Given the description of an element on the screen output the (x, y) to click on. 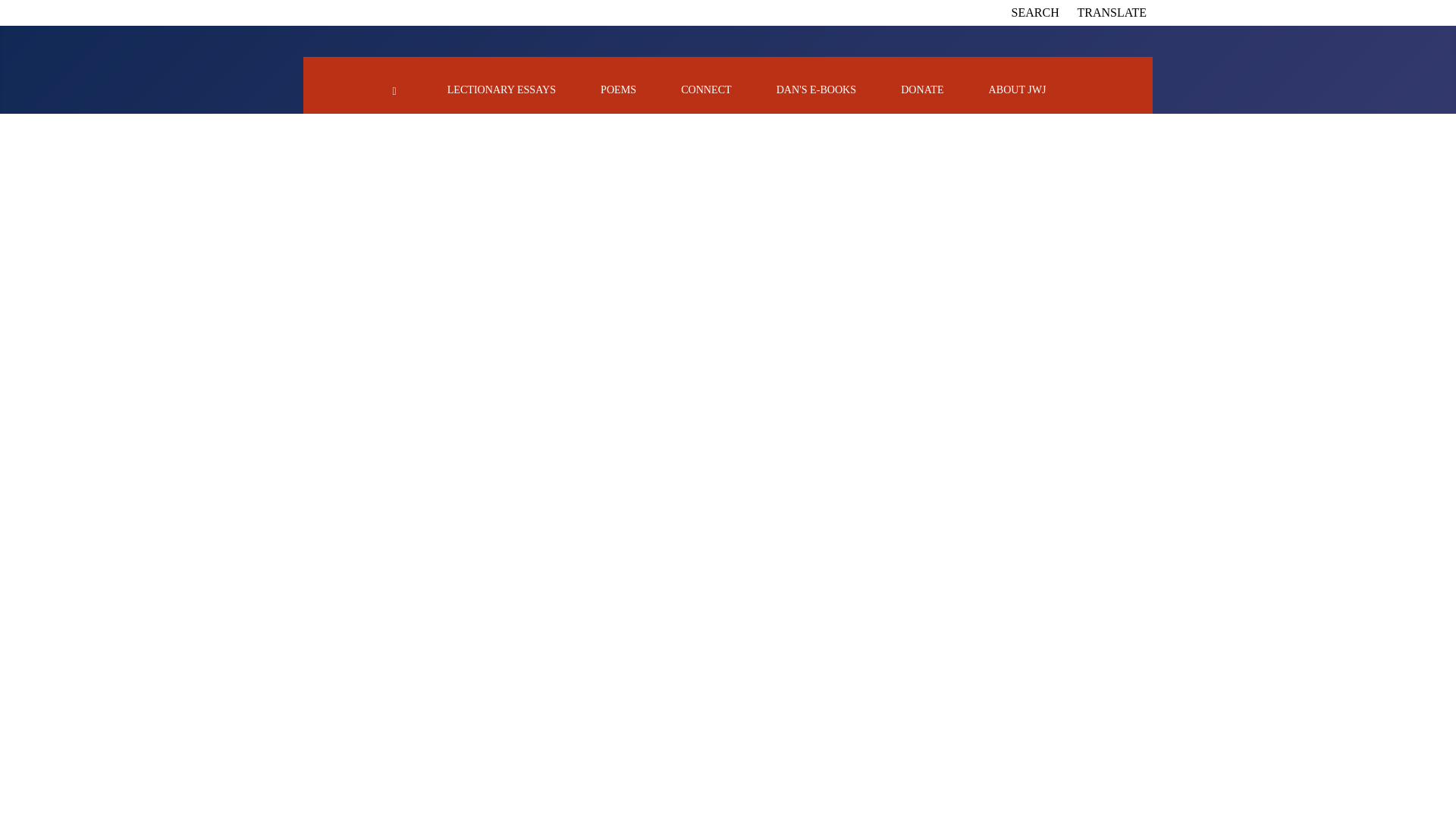
ABOUT JWJ (1017, 89)
HOME (395, 89)
SEARCH (1035, 11)
TRANSLATE (1112, 11)
POEMS (617, 89)
LECTIONARY ESSAYS (501, 89)
DAN'S E-BOOKS (816, 89)
DONATE (922, 89)
CONNECT (705, 89)
